Given the description of an element on the screen output the (x, y) to click on. 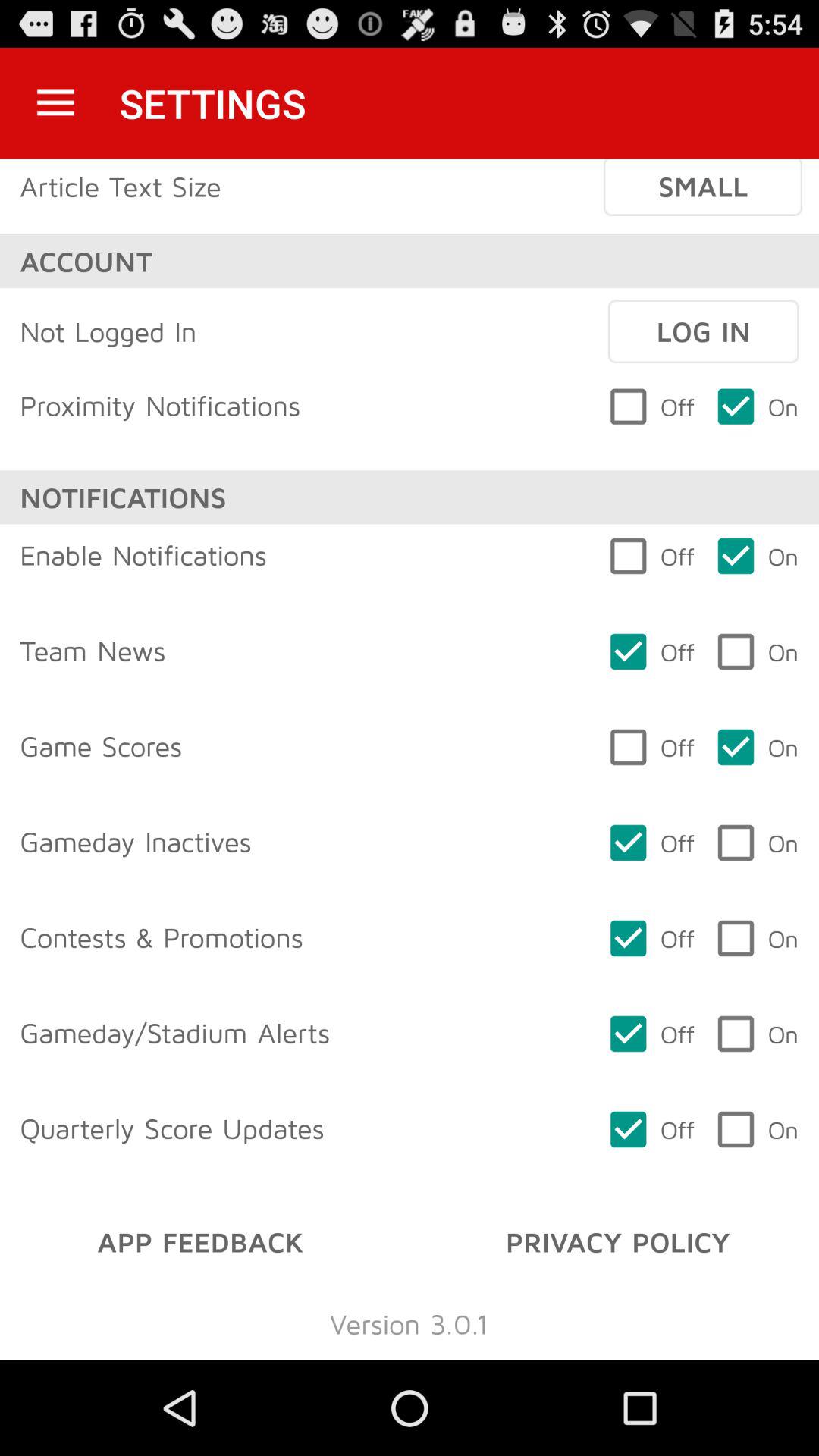
select the icon below app feedback icon (408, 1323)
